Given the description of an element on the screen output the (x, y) to click on. 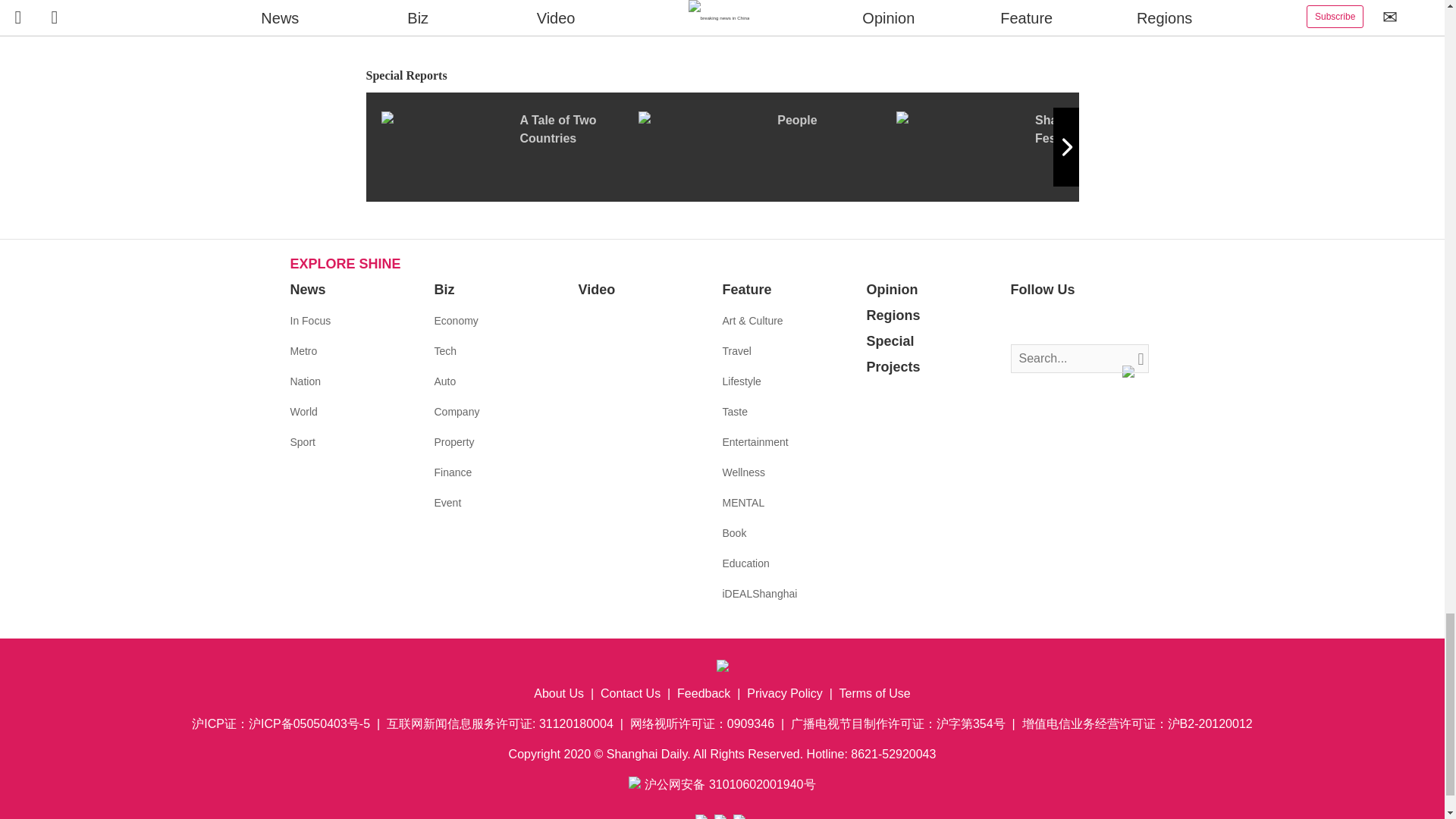
Shanghai Tourism Festival (1024, 146)
A Tale of Two Countries (508, 146)
Follow us on Wechat (1112, 321)
Follow us on Youtube (1090, 321)
News (306, 289)
People (767, 146)
Follow us on Twitter (1044, 321)
Follow us on Facebook (1021, 321)
Special Reports (721, 76)
Follow us on Instagram (1067, 321)
